Given the description of an element on the screen output the (x, y) to click on. 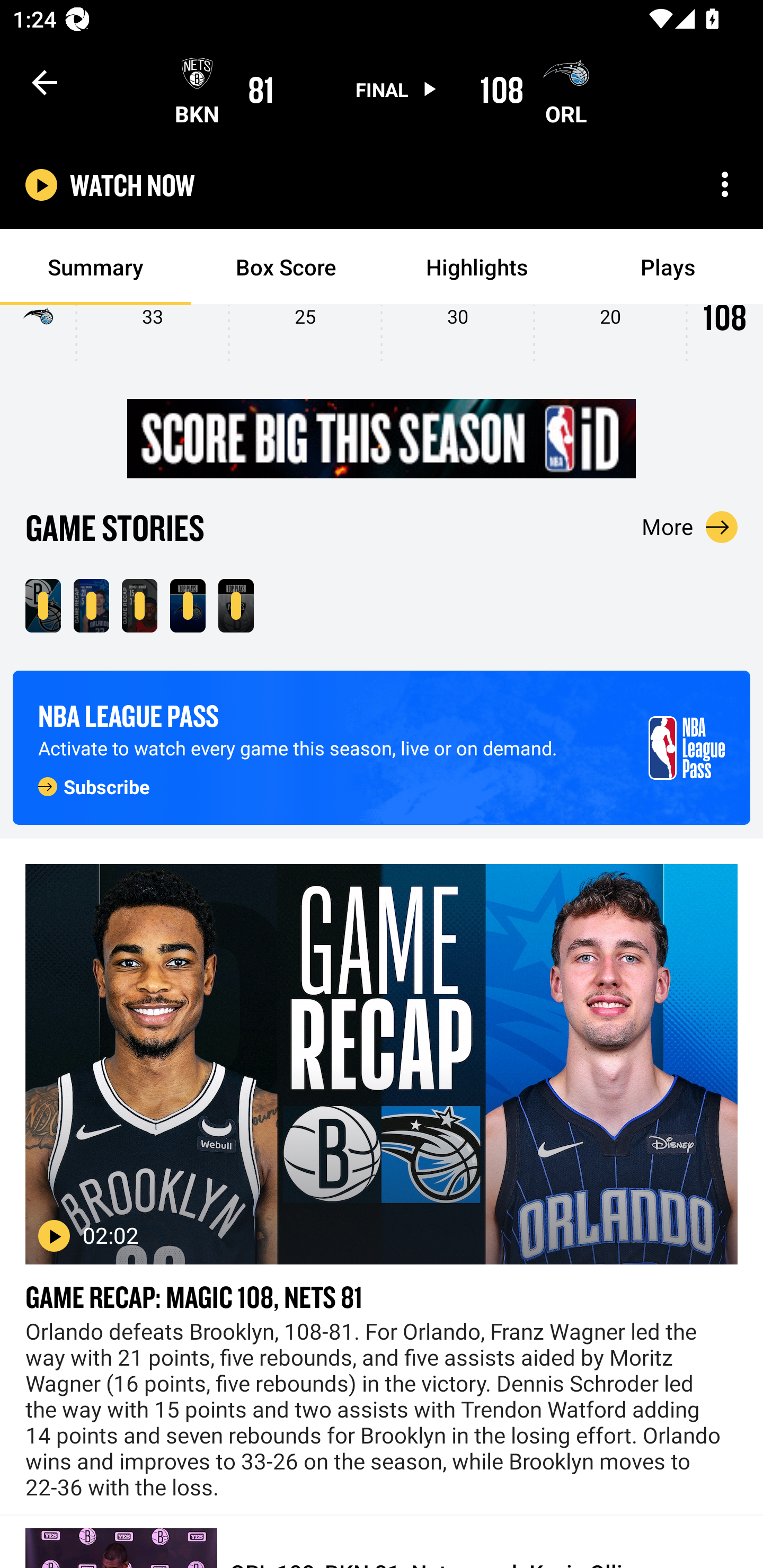
Navigate up (44, 82)
More options (724, 183)
WATCH NOW (132, 184)
Box Score (285, 266)
Highlights (476, 266)
Plays (667, 266)
33 25 30 20 108 (381, 339)
More (689, 526)
NEW ORL 108, BKN 81 - Feb 27 (43, 604)
NEW Highlights From Franz Wagner's 21-Point Game (91, 604)
NEW ORL's Top Plays from BKN vs. ORL (187, 604)
NEW BKN's Top Plays from BKN vs. ORL (236, 604)
